Given the description of an element on the screen output the (x, y) to click on. 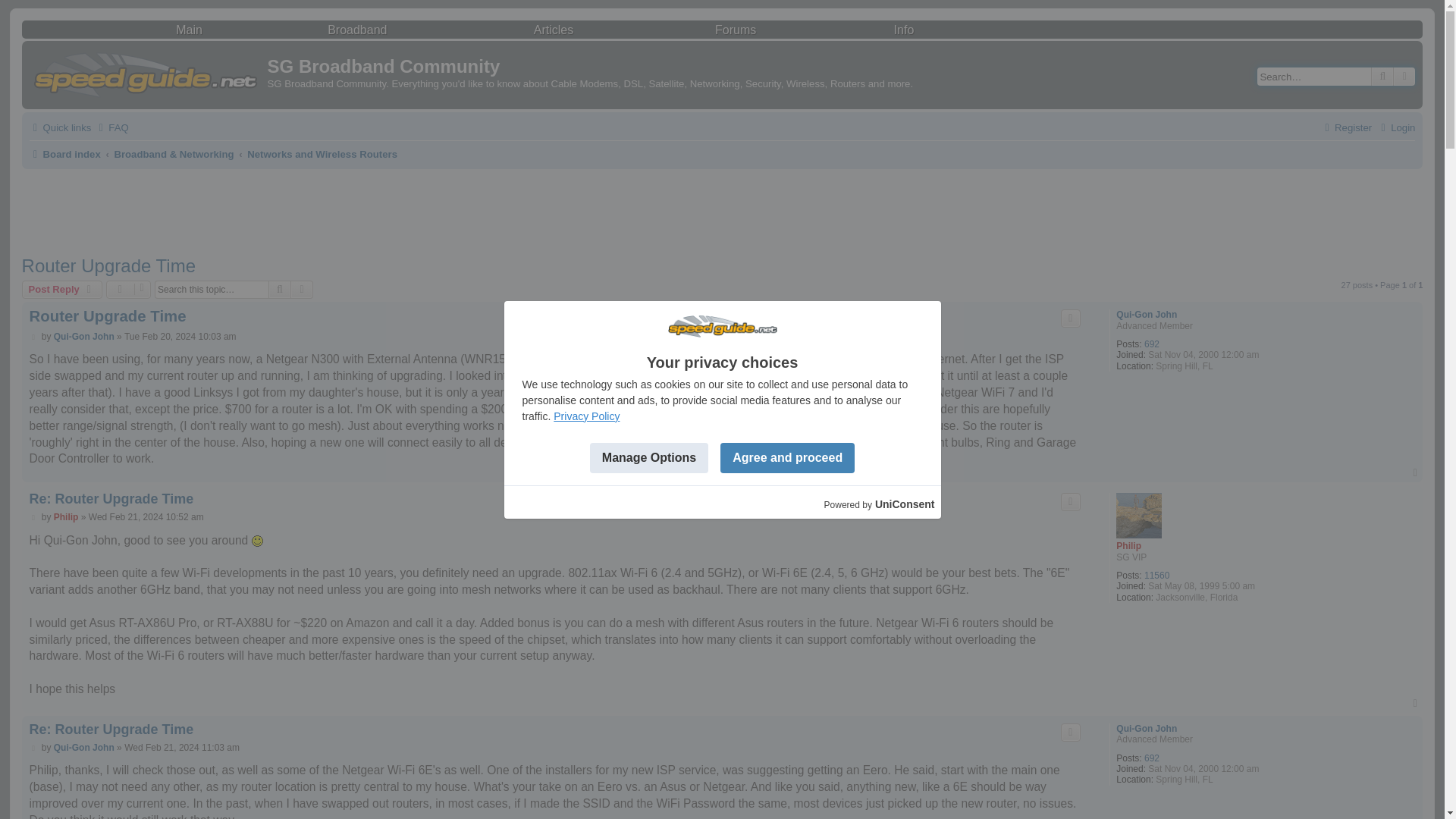
Privacy Policy (586, 415)
Broadband (357, 29)
Search for keywords (1314, 76)
Post a reply (62, 289)
Agree and proceed (787, 458)
Advanced search (1404, 76)
Networks and Wireless Routers (322, 154)
Login (1396, 127)
Forums (734, 29)
Manage Options (648, 458)
Board index (64, 154)
Articles (553, 29)
Search (1382, 76)
UniConsent Consent Manager (904, 503)
